Given the description of an element on the screen output the (x, y) to click on. 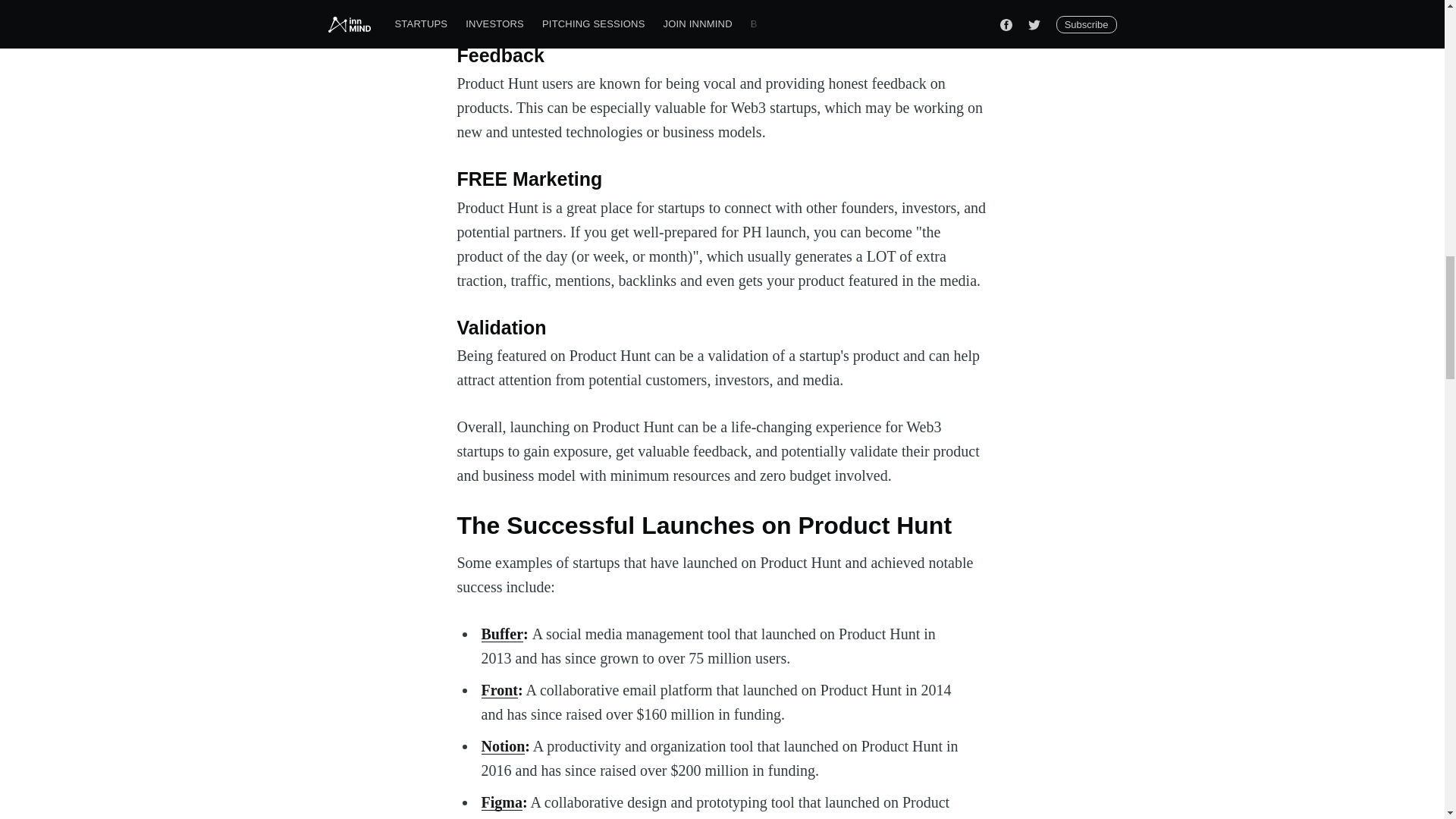
Notion (502, 745)
Buffer (501, 633)
Front (499, 689)
Figma (500, 801)
